Given the description of an element on the screen output the (x, y) to click on. 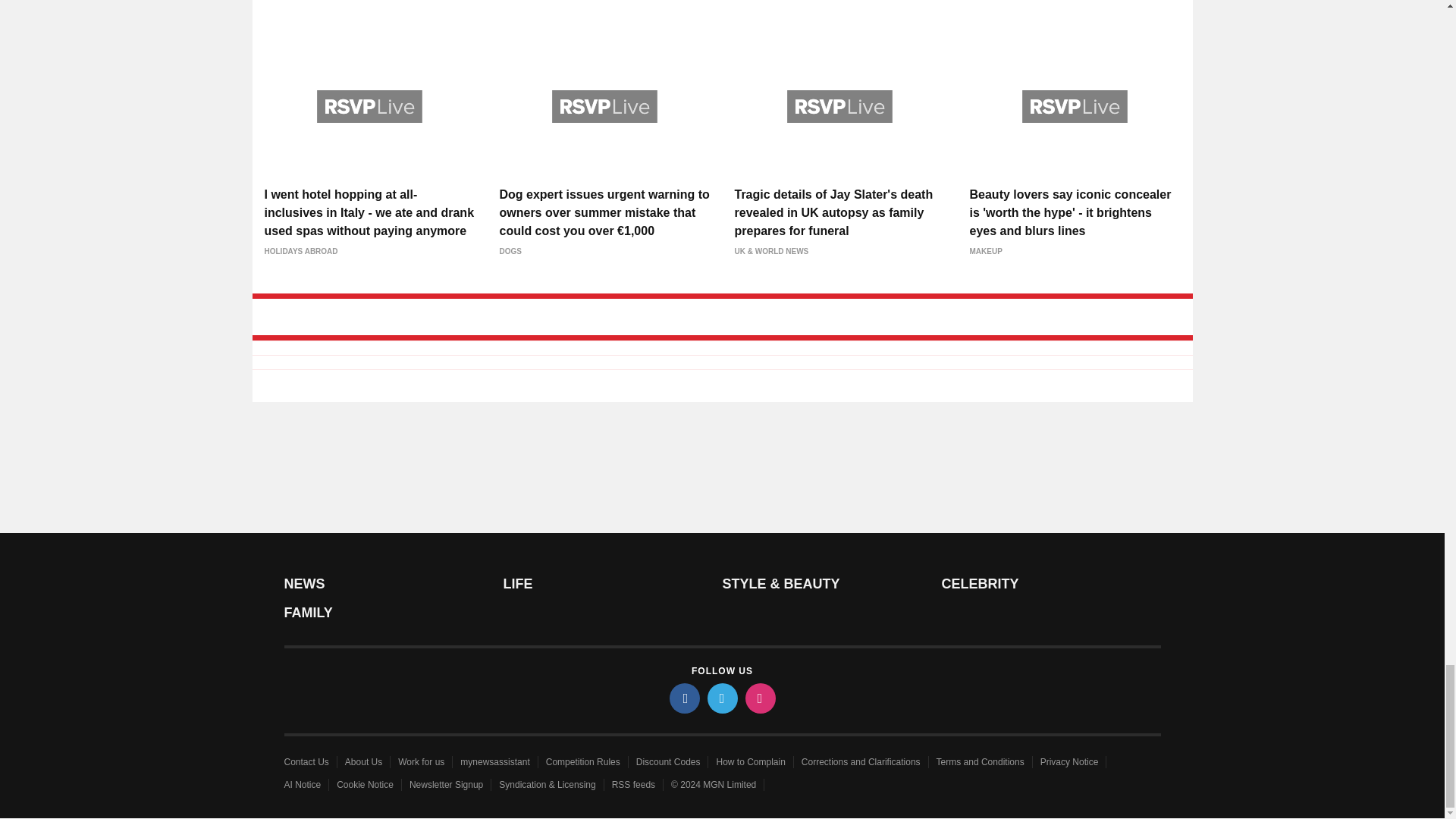
twitter (721, 698)
instagram (759, 698)
facebook (683, 698)
